Given the description of an element on the screen output the (x, y) to click on. 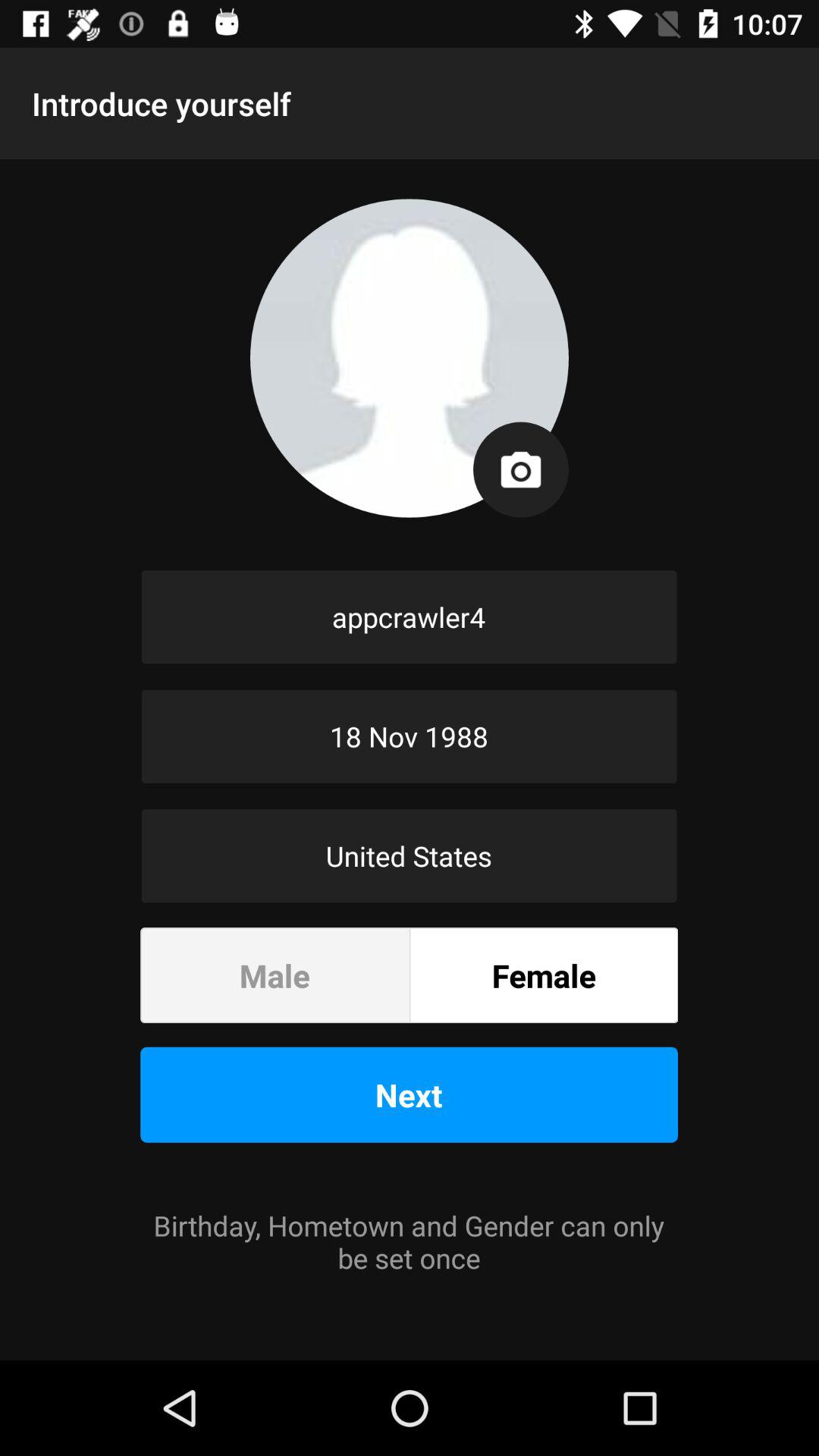
click the item below the male icon (408, 1094)
